Given the description of an element on the screen output the (x, y) to click on. 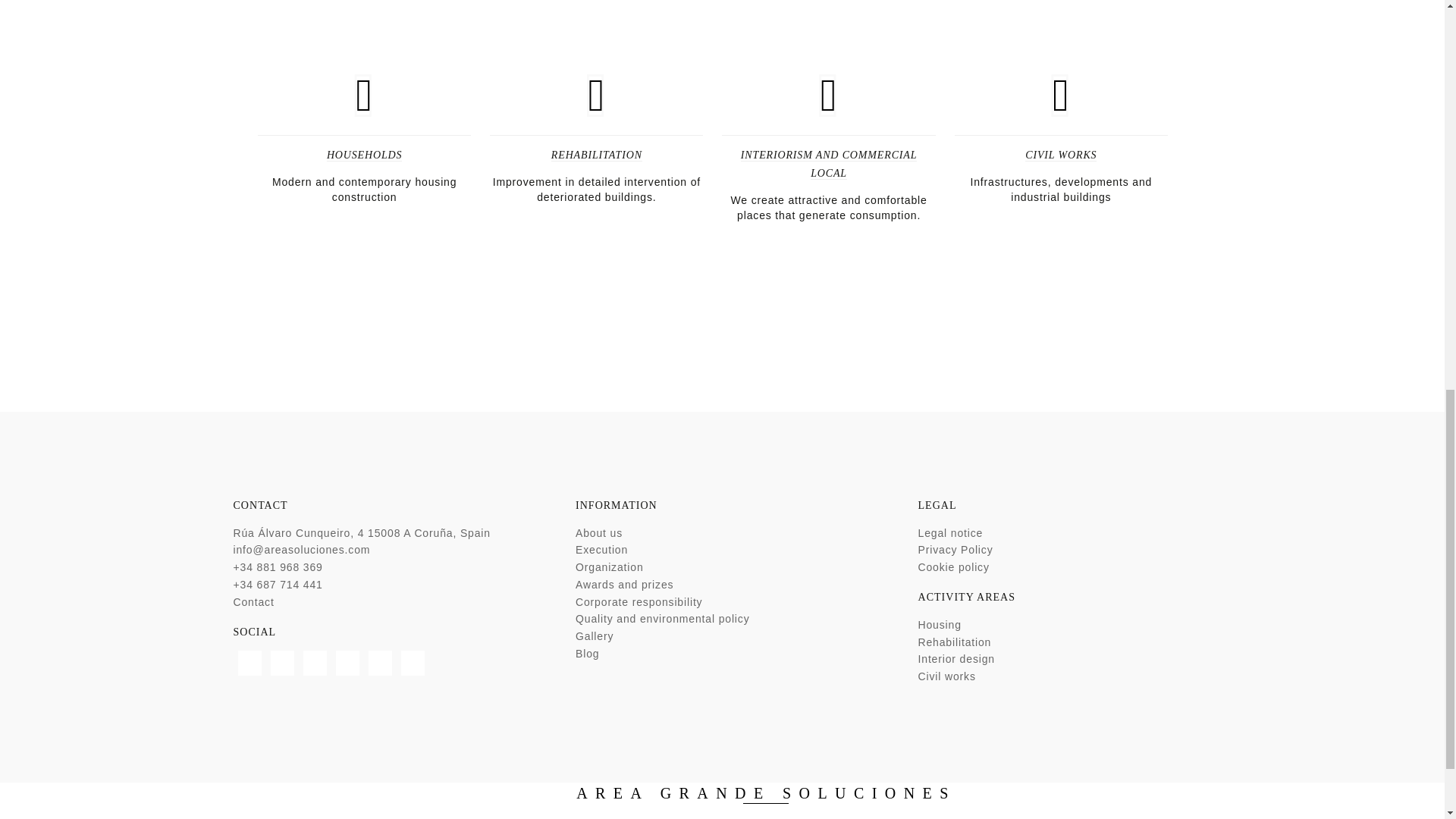
REHABILITATION (596, 155)
HOUSEHOLDS (364, 155)
CIVIL WORKS (1060, 155)
INTERIORISM AND COMMERCIAL LOCAL (829, 164)
